Given the description of an element on the screen output the (x, y) to click on. 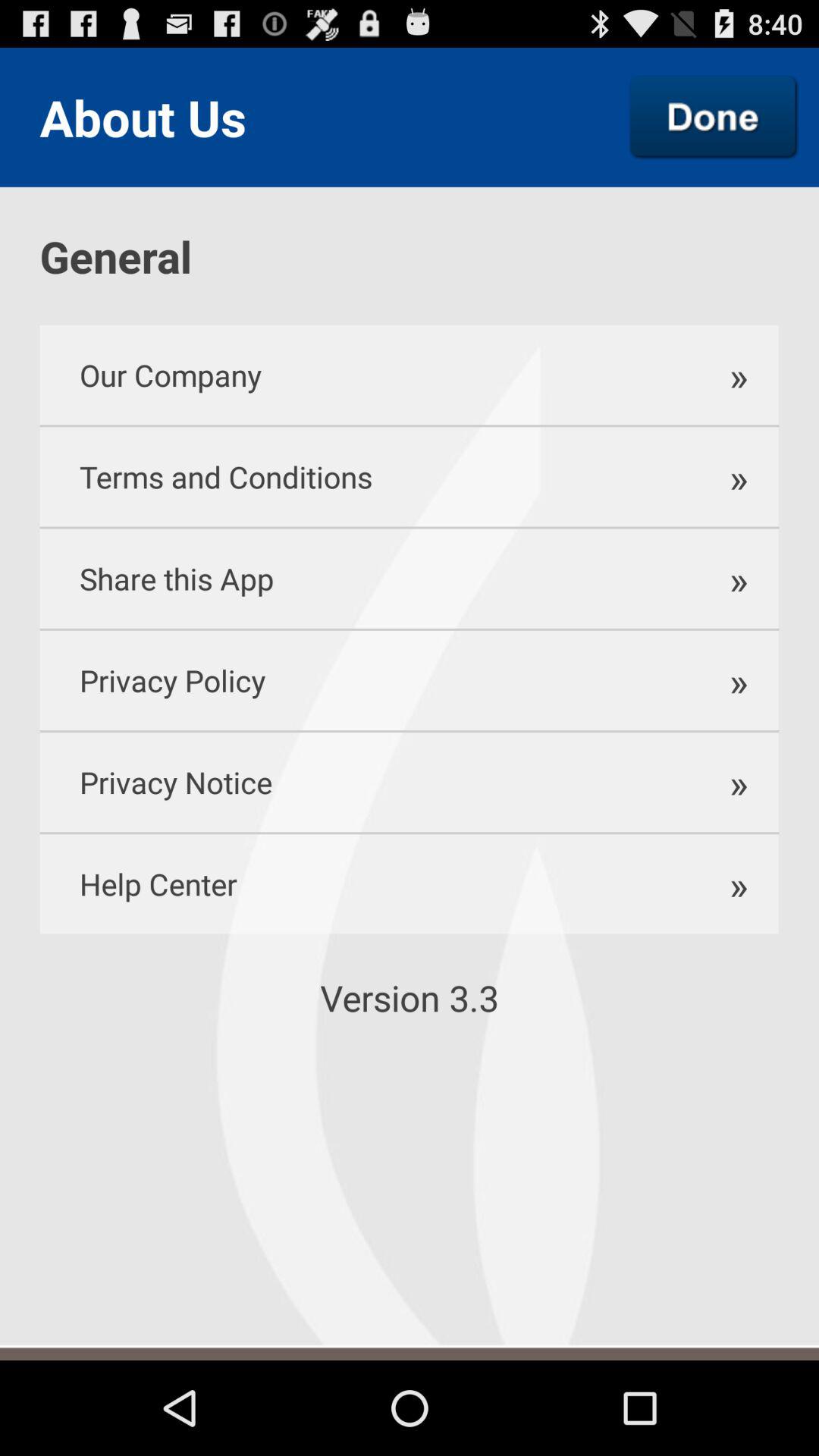
turn off the button next to help center (729, 883)
